Given the description of an element on the screen output the (x, y) to click on. 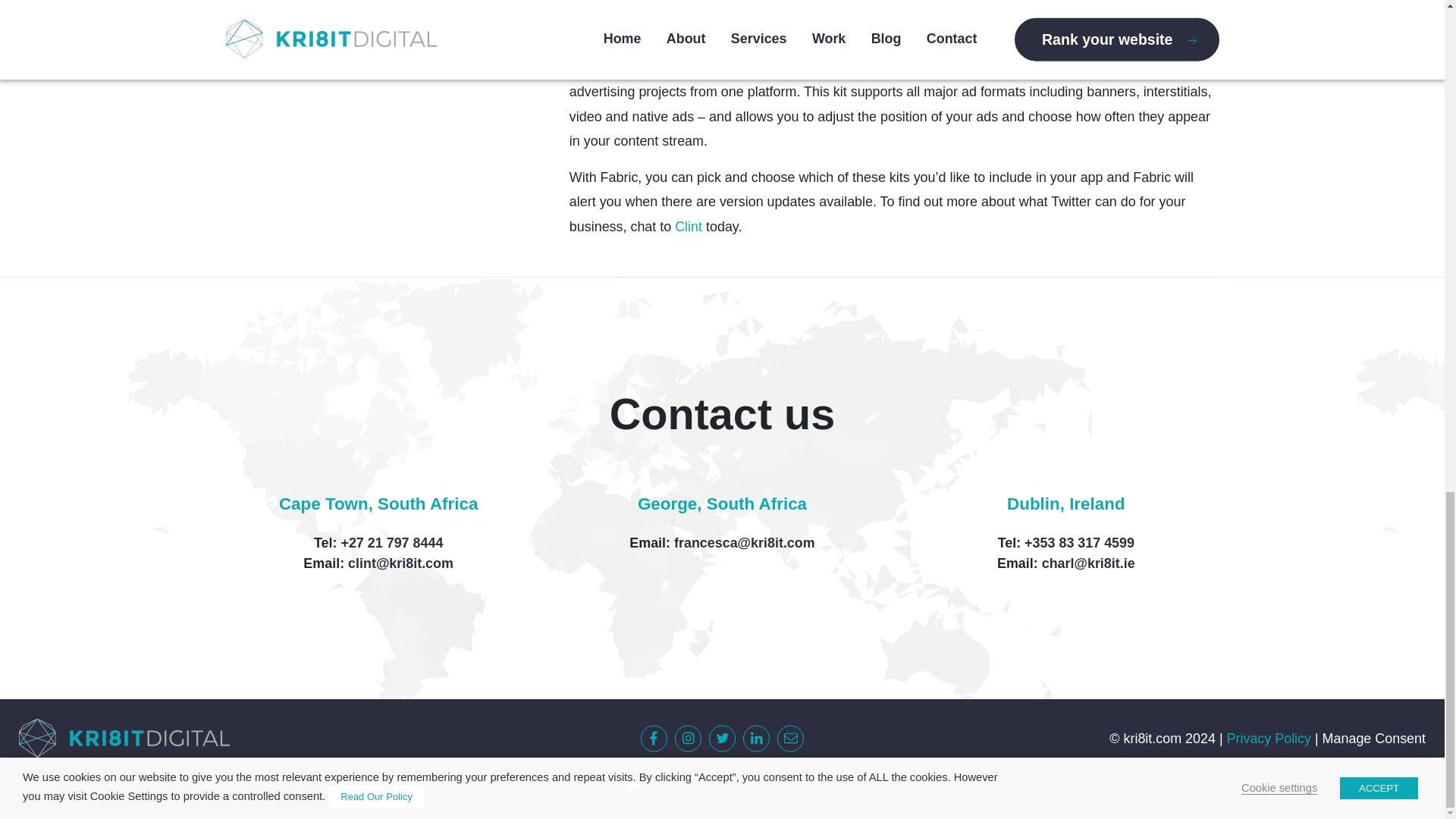
DMCA.com Protection Status (721, 788)
Clint (688, 226)
Privacy Policy (1269, 738)
Privacy Policy (1269, 738)
Manage Consent (1373, 738)
Manage Consent (1373, 738)
